Given the description of an element on the screen output the (x, y) to click on. 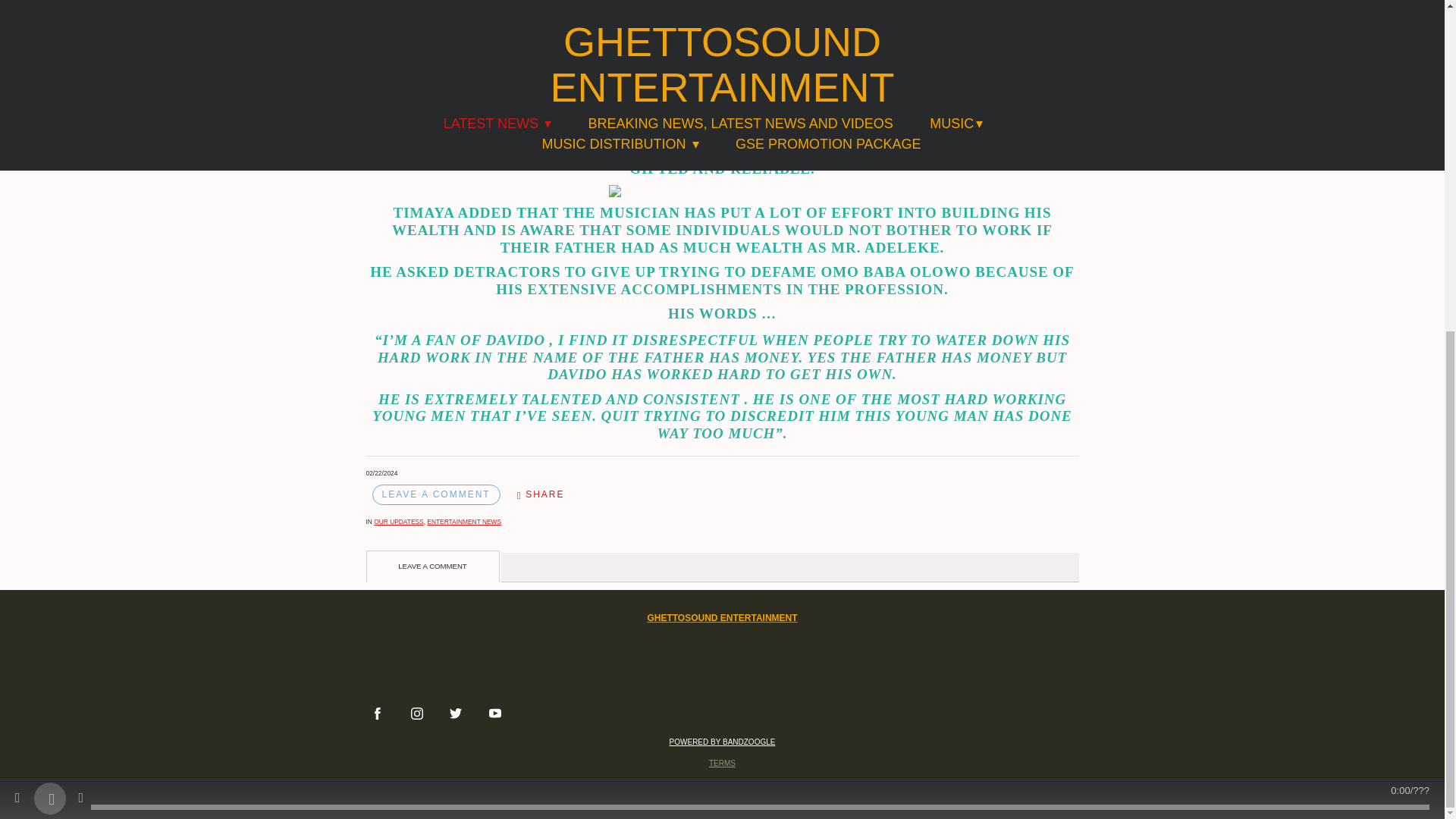
Leave a comment (435, 494)
GHETTOSOUND ENTERTAINMENT (721, 617)
SHARE (540, 494)
POWERED BY BANDZOOGLE (722, 741)
Powered by Bandzoogle (722, 741)
OUR UPDATESS (398, 521)
TERMS (722, 762)
February 22, 2024 17:05 (381, 472)
LEAVE A COMMENT (435, 494)
ENTERTAINMENT NEWS (463, 521)
